Given the description of an element on the screen output the (x, y) to click on. 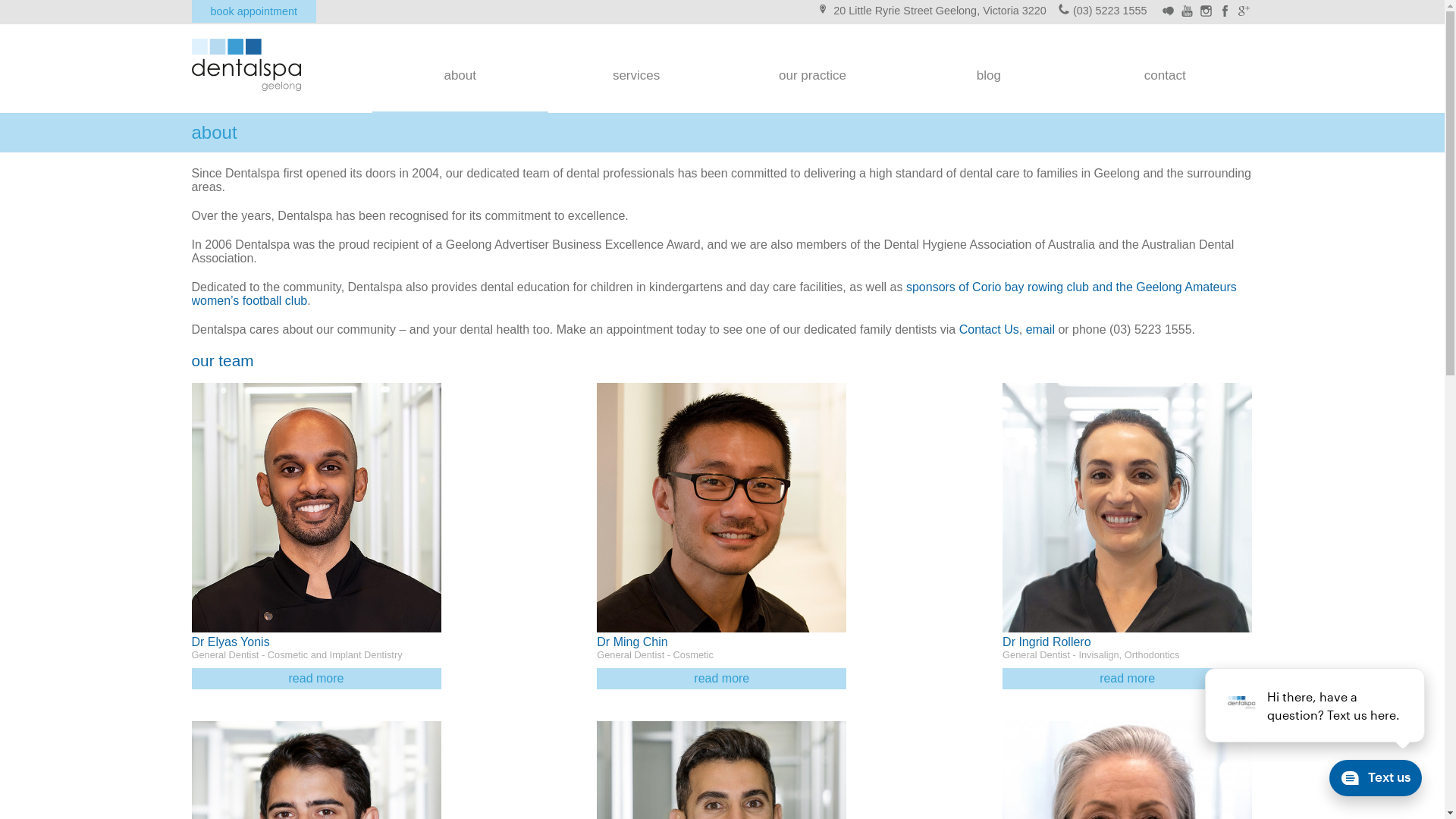
about Element type: text (459, 75)
podium webchat widget prompt Element type: hover (1315, 705)
Dr Ming Chin
General Dentist - Cosmetic
read more Element type: text (721, 662)
our practice Element type: text (812, 75)
book appointment Element type: text (253, 11)
Contact Us Element type: text (989, 329)
contact Element type: text (1164, 75)
blog Element type: text (988, 75)
services Element type: text (636, 75)
email Element type: text (1040, 329)
